Given the description of an element on the screen output the (x, y) to click on. 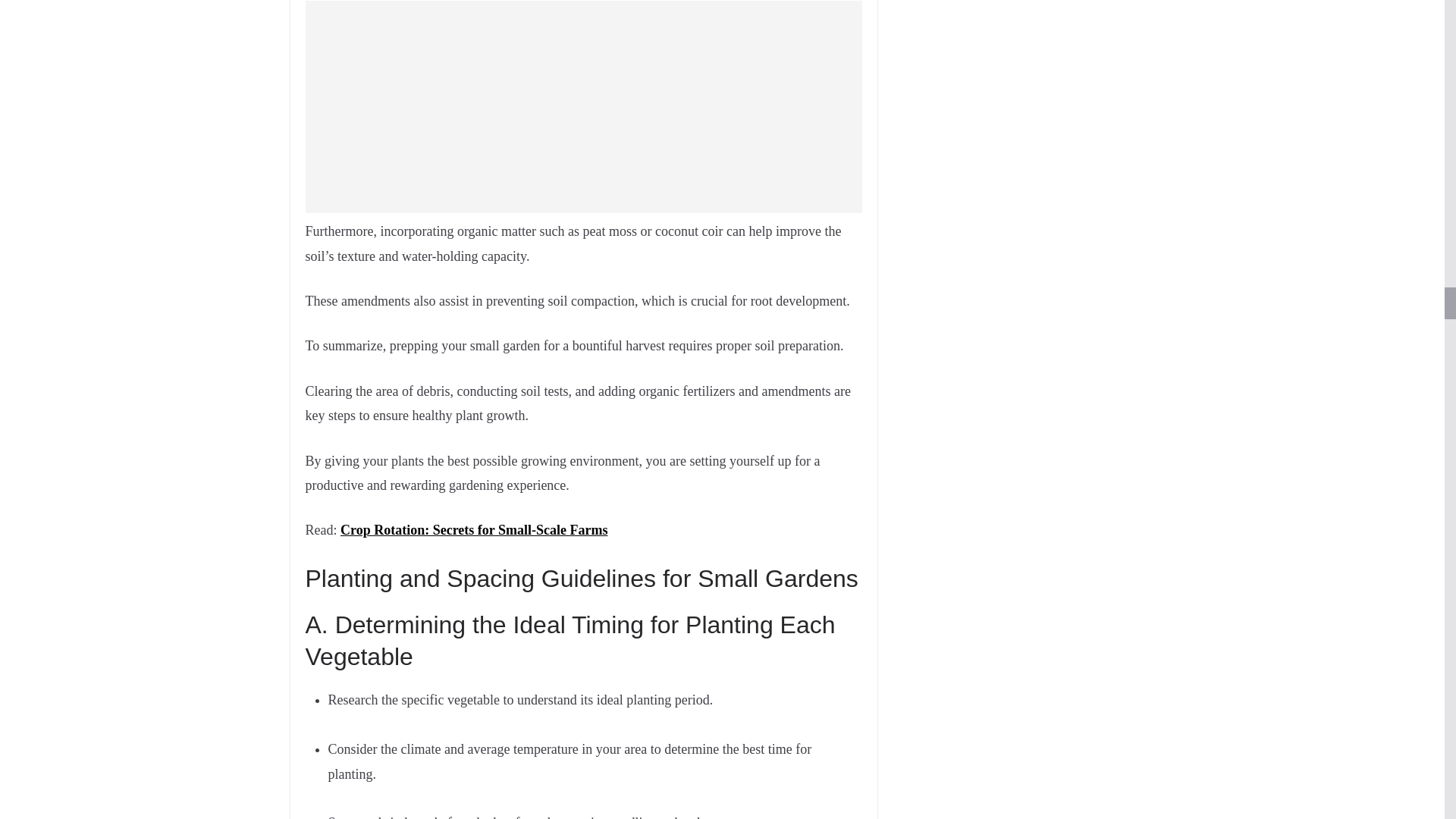
Crop Rotation: Secrets for Small-Scale Farms (473, 529)
